Given the description of an element on the screen output the (x, y) to click on. 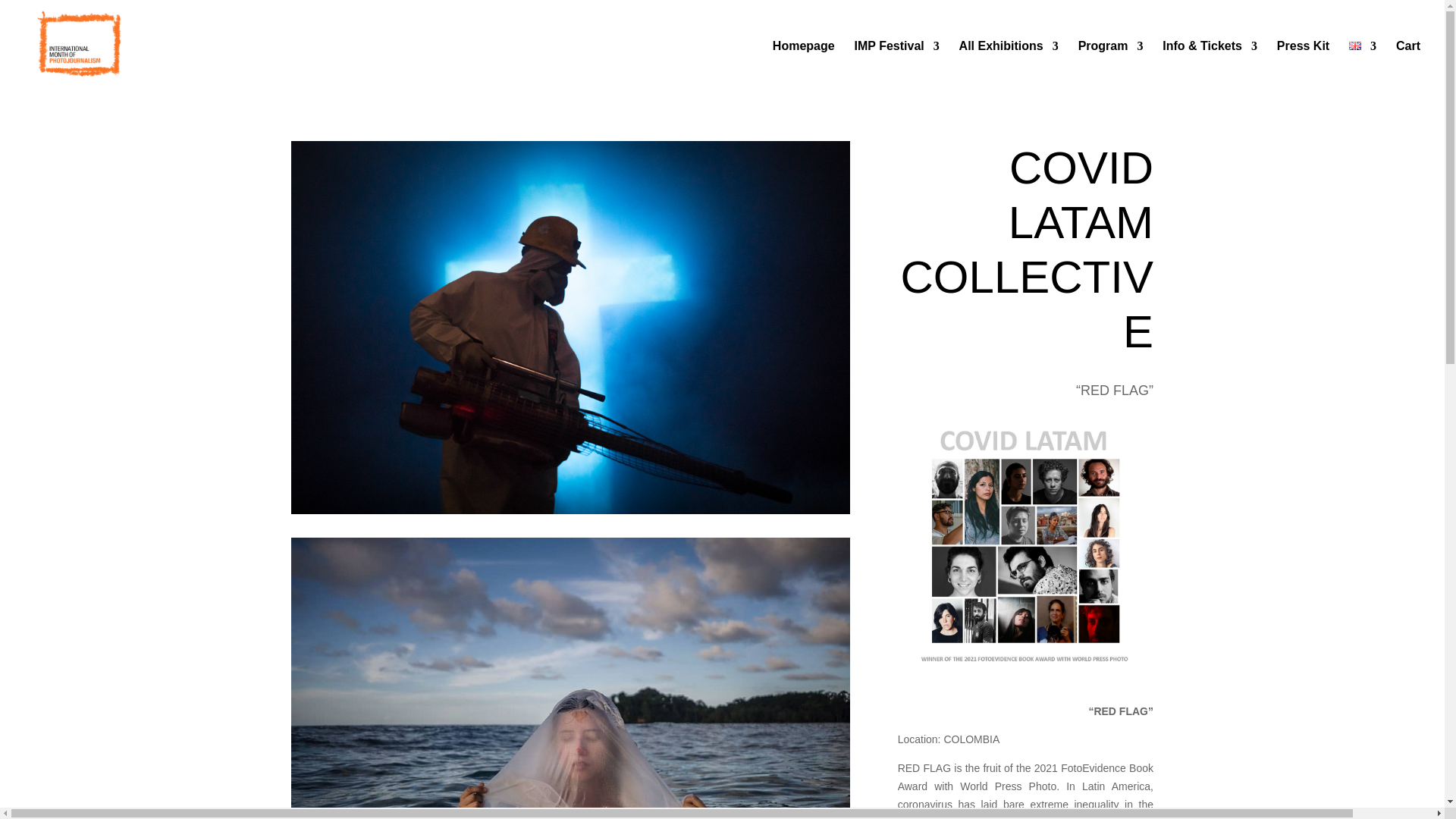
Program (1110, 66)
Homepage (803, 66)
Press Kit (1302, 66)
All Exhibitions (1008, 66)
IMP Festival (896, 66)
